Given the description of an element on the screen output the (x, y) to click on. 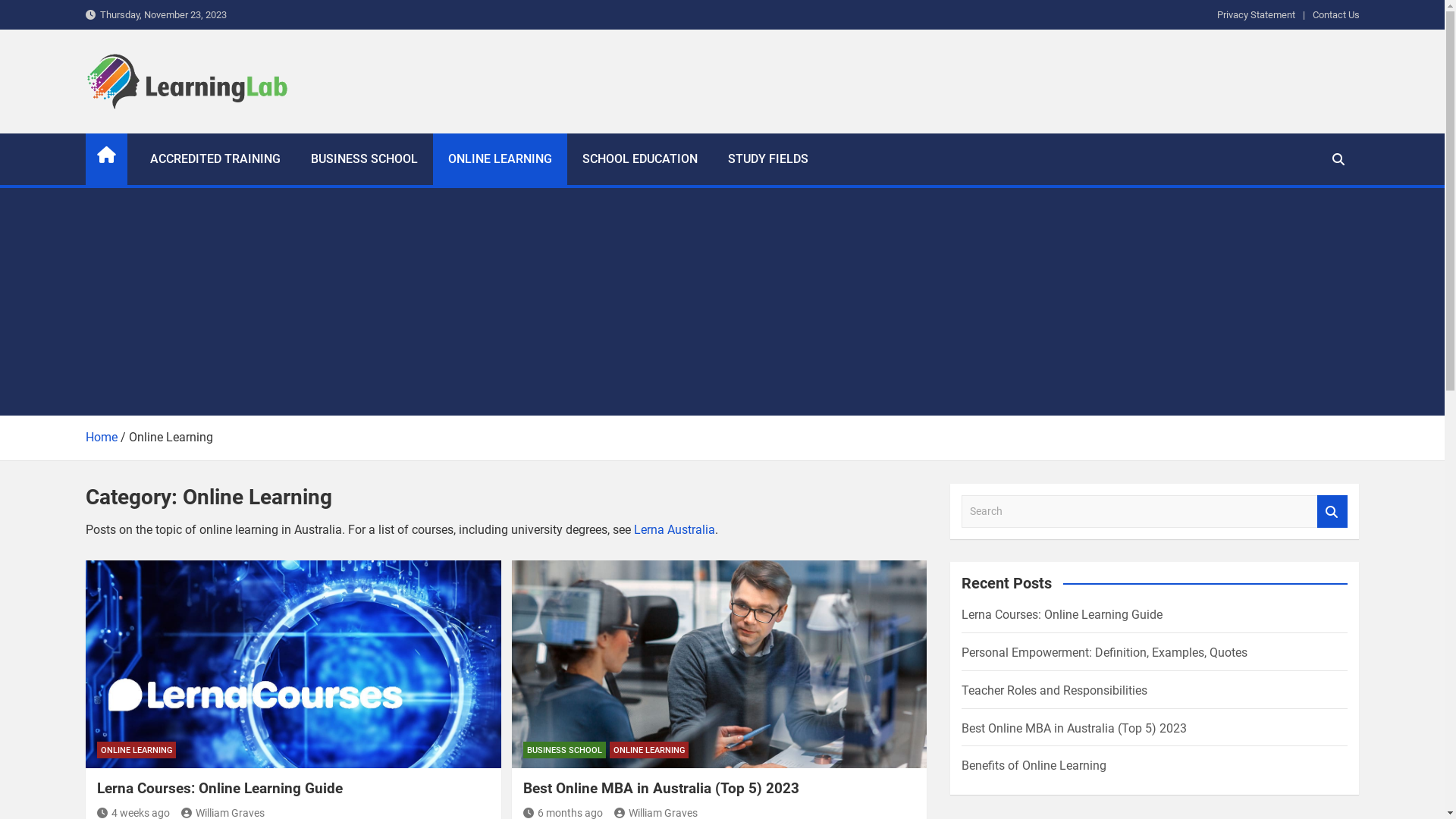
Privacy Statement Element type: text (1255, 14)
Contact Us Element type: text (1334, 14)
Best Online MBA in Australia (Top 5) 2023 Element type: text (661, 788)
Lerna Courses: Online Learning Guide Element type: text (1061, 614)
Lerna Courses: Online Learning Guide Element type: hover (293, 664)
Benefits of Online Learning Element type: text (1033, 765)
Home Element type: text (100, 436)
SCHOOL EDUCATION Element type: text (639, 159)
Learning Lab Element type: text (173, 129)
Advertisement Element type: hover (721, 301)
BUSINESS SCHOOL Element type: text (364, 159)
BUSINESS SCHOOL Element type: text (564, 749)
ONLINE LEARNING Element type: text (136, 749)
STUDY FIELDS Element type: text (767, 159)
Search Element type: text (1332, 511)
Lerna Australia Element type: text (674, 528)
ONLINE LEARNING Element type: text (499, 159)
ONLINE LEARNING Element type: text (648, 749)
ACCREDITED TRAINING Element type: text (214, 159)
Personal Empowerment: Definition, Examples, Quotes Element type: text (1104, 652)
Best Online MBA in Australia (Top 5) 2023 Element type: hover (718, 664)
Best Online MBA in Australia (Top 5) 2023 Element type: text (1073, 727)
Teacher Roles and Responsibilities Element type: text (1054, 690)
Lerna Courses: Online Learning Guide Element type: text (219, 788)
